Given the description of an element on the screen output the (x, y) to click on. 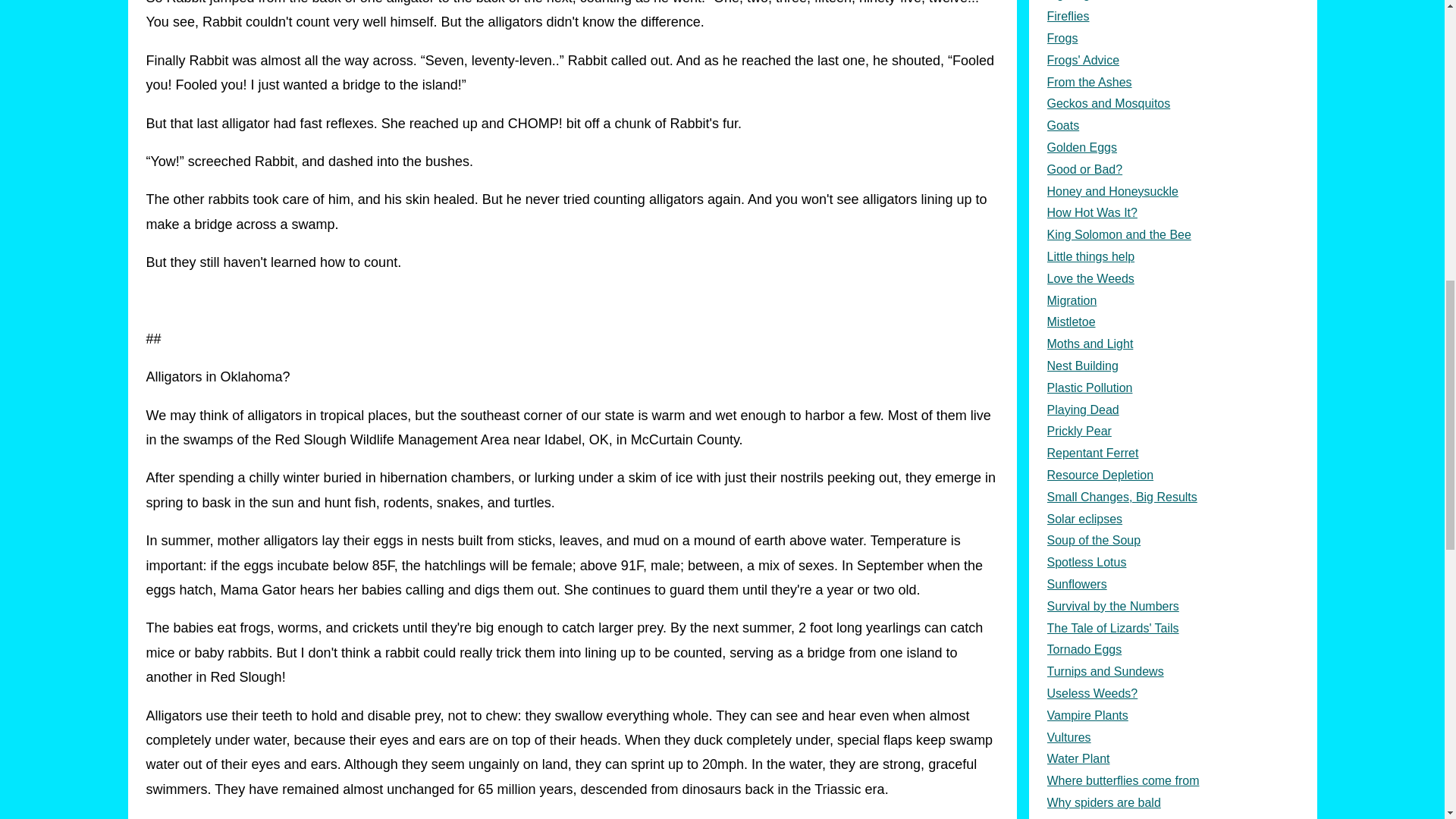
Frogs' Advice (1172, 60)
Frogs (1172, 38)
Fireflies (1172, 16)
Fighting fire (1172, 2)
